Given the description of an element on the screen output the (x, y) to click on. 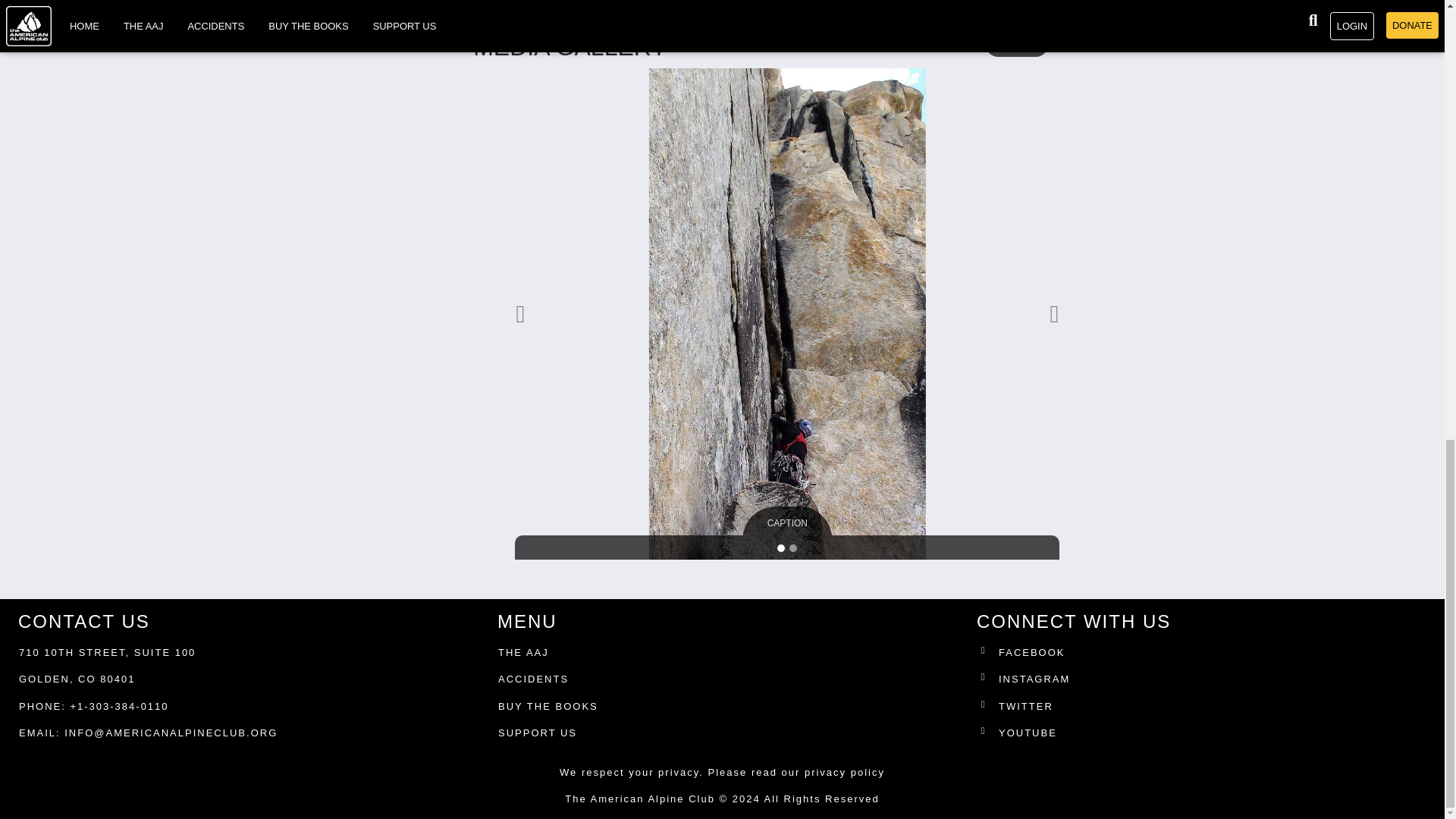
Share to Reddit (557, 2)
CAPTION (786, 522)
THE AAJ (522, 652)
SUPPORT US (536, 733)
BUY THE BOOKS (547, 706)
Share to Facebook (485, 2)
YOUTUBE (1204, 735)
Pause (999, 44)
Fullscreen (1034, 44)
INSTAGRAM (1204, 681)
